Given the description of an element on the screen output the (x, y) to click on. 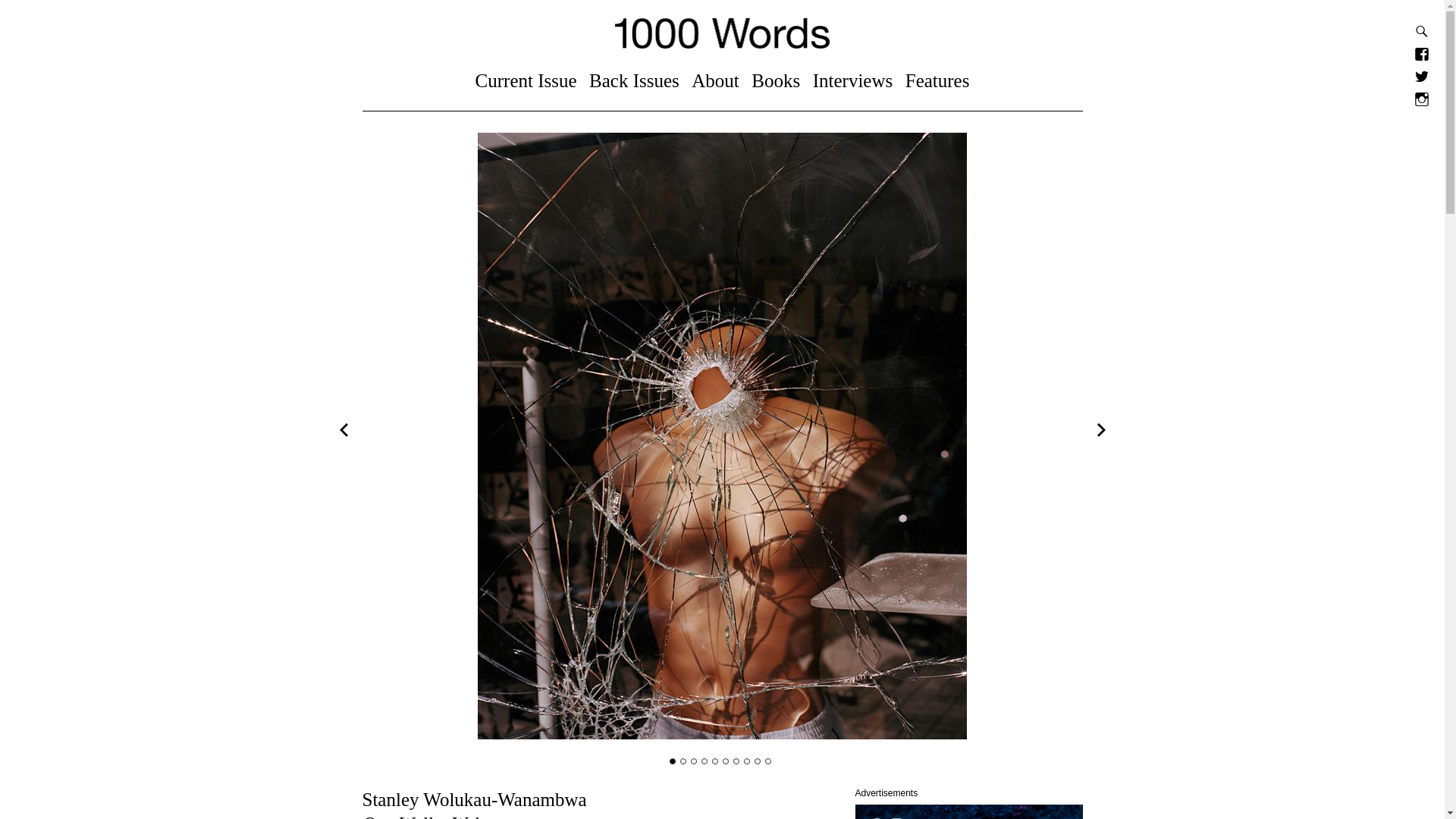
Books (775, 80)
Interviews (852, 80)
Current Issue (526, 80)
Back Issues (634, 80)
About (715, 80)
Features (937, 80)
